Given the description of an element on the screen output the (x, y) to click on. 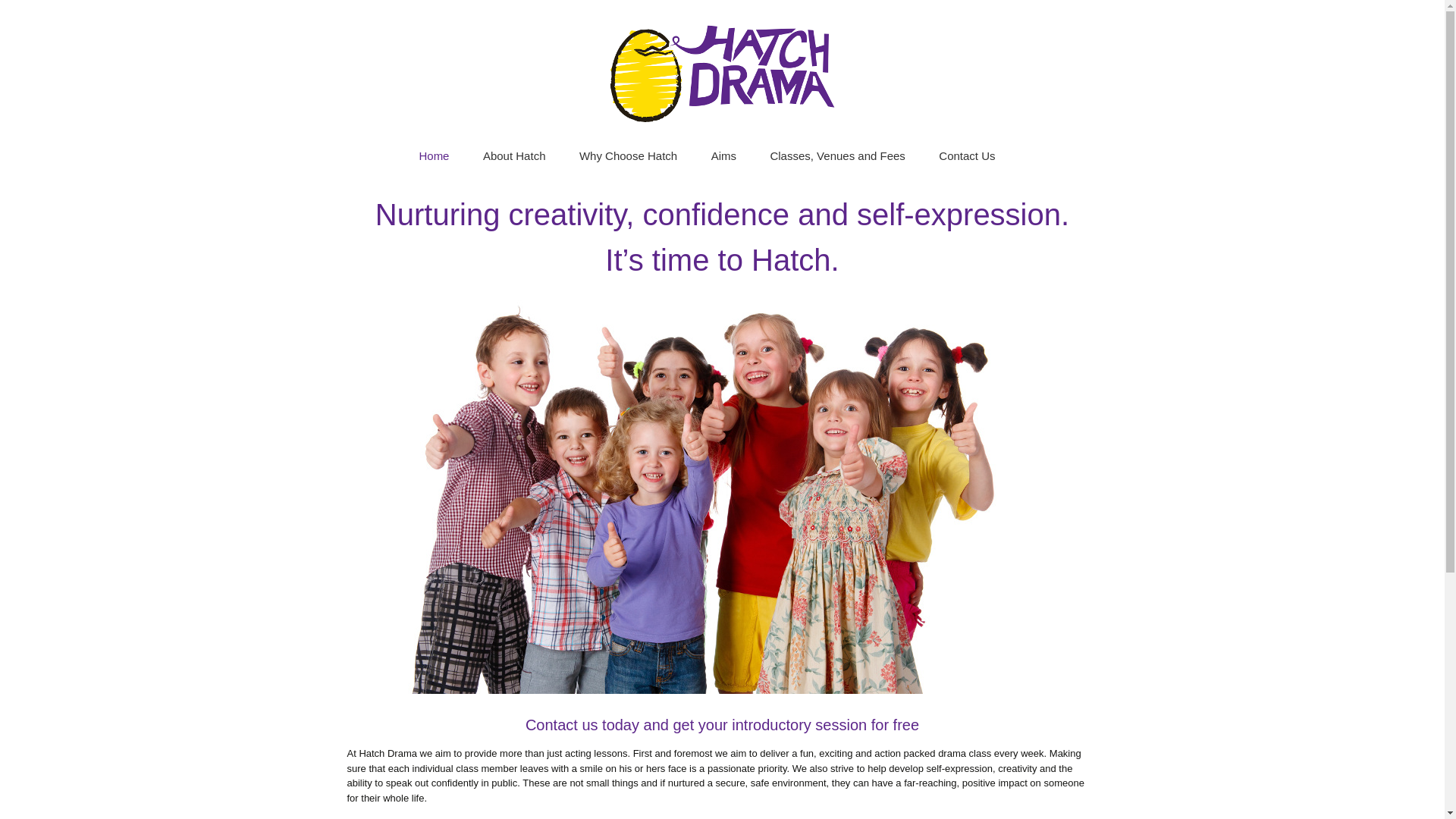
Contact Us (966, 155)
Skip to content (762, 147)
Aims (723, 155)
About Hatch (513, 155)
Home (433, 155)
Why Choose Hatch (628, 155)
Skip to content (762, 147)
Contact us today and get your introductory session for free (721, 724)
Hatch Drama (721, 70)
Classes, Venues and Fees (837, 155)
